Given the description of an element on the screen output the (x, y) to click on. 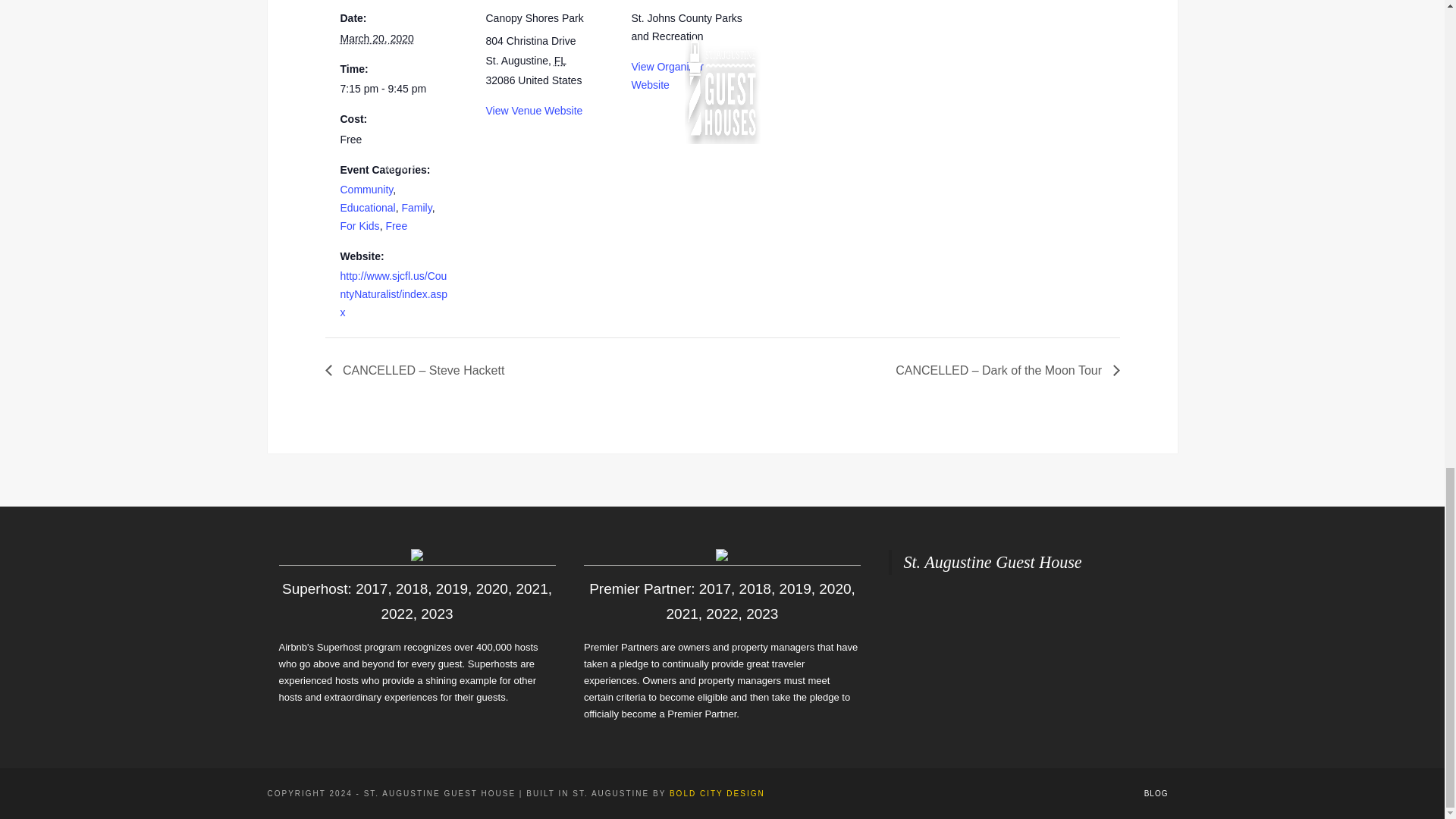
Family (415, 207)
2020-03-20 (376, 38)
For Kids (358, 225)
2020-03-20 (395, 89)
View Venue Website (533, 110)
Free (396, 225)
Florida (560, 60)
Educational (366, 207)
Community (366, 189)
